Given the description of an element on the screen output the (x, y) to click on. 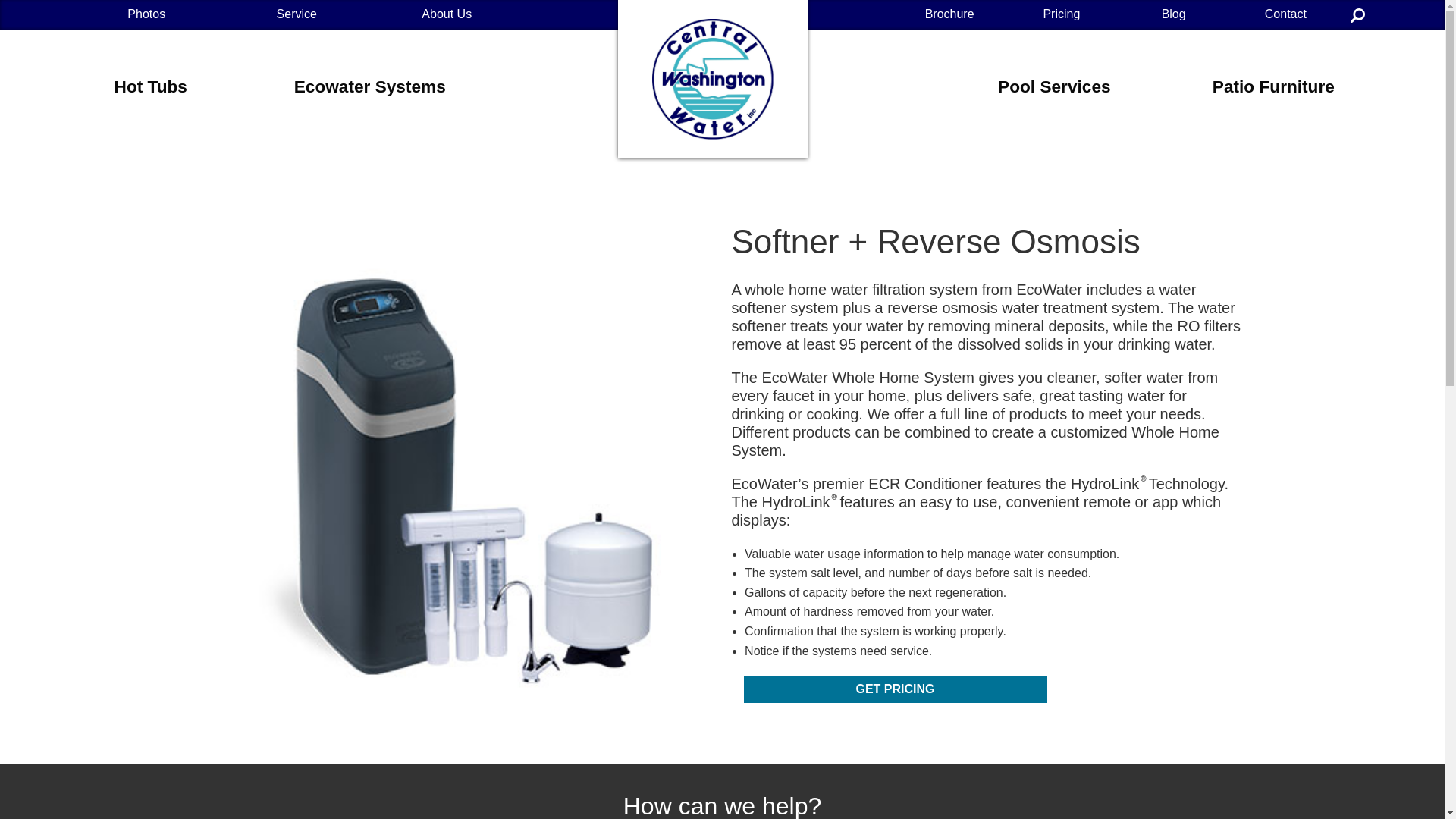
Search (1357, 15)
Pricing (1061, 15)
Hot Tubs (151, 83)
Service (296, 15)
Brochure (949, 15)
Blog (1173, 15)
Ecowater Systems (369, 83)
Photos (145, 15)
Contact (1285, 15)
About Us (446, 15)
